Given the description of an element on the screen output the (x, y) to click on. 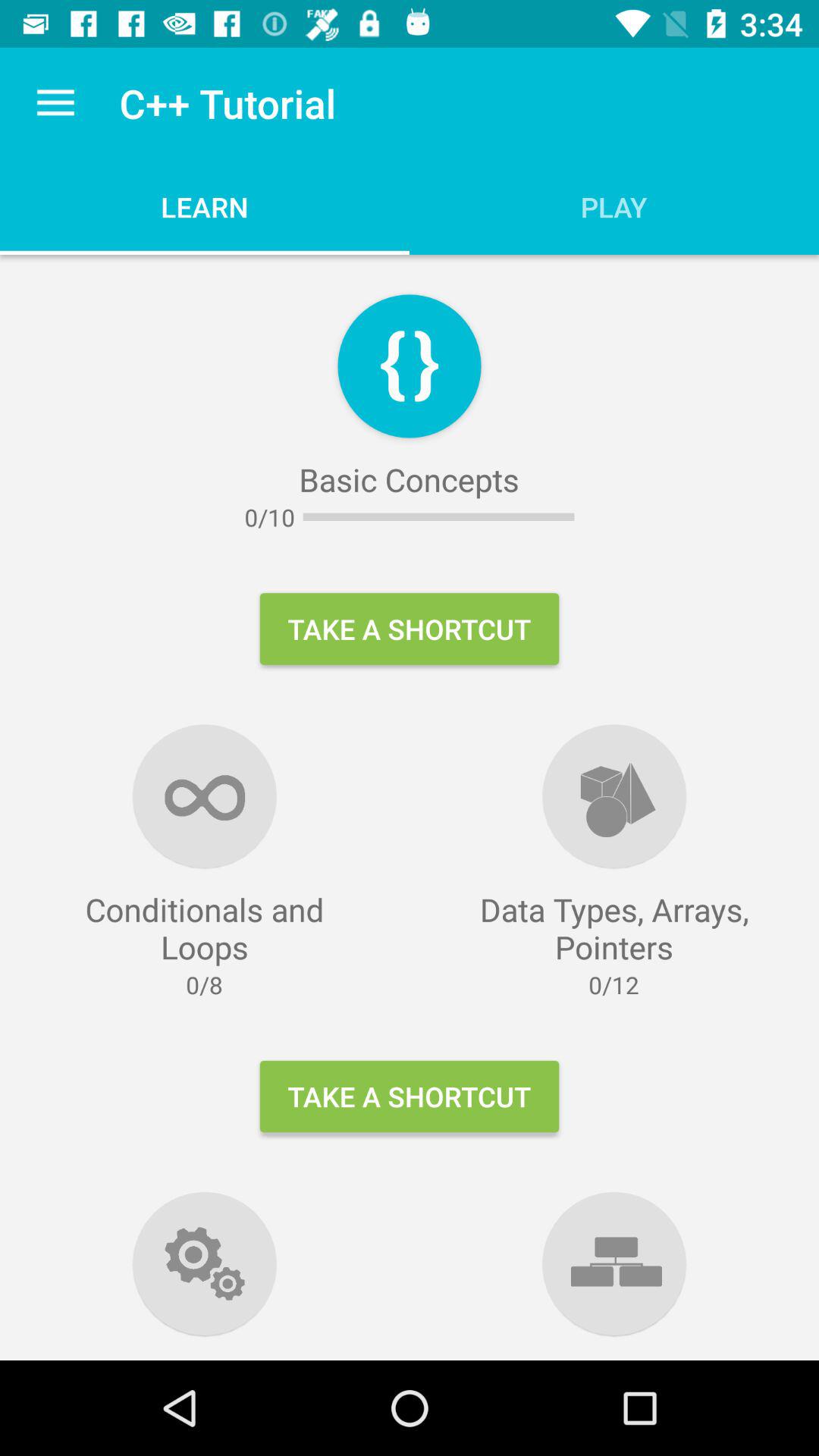
tap the icon to the left of the c++ tutorial (55, 103)
